Given the description of an element on the screen output the (x, y) to click on. 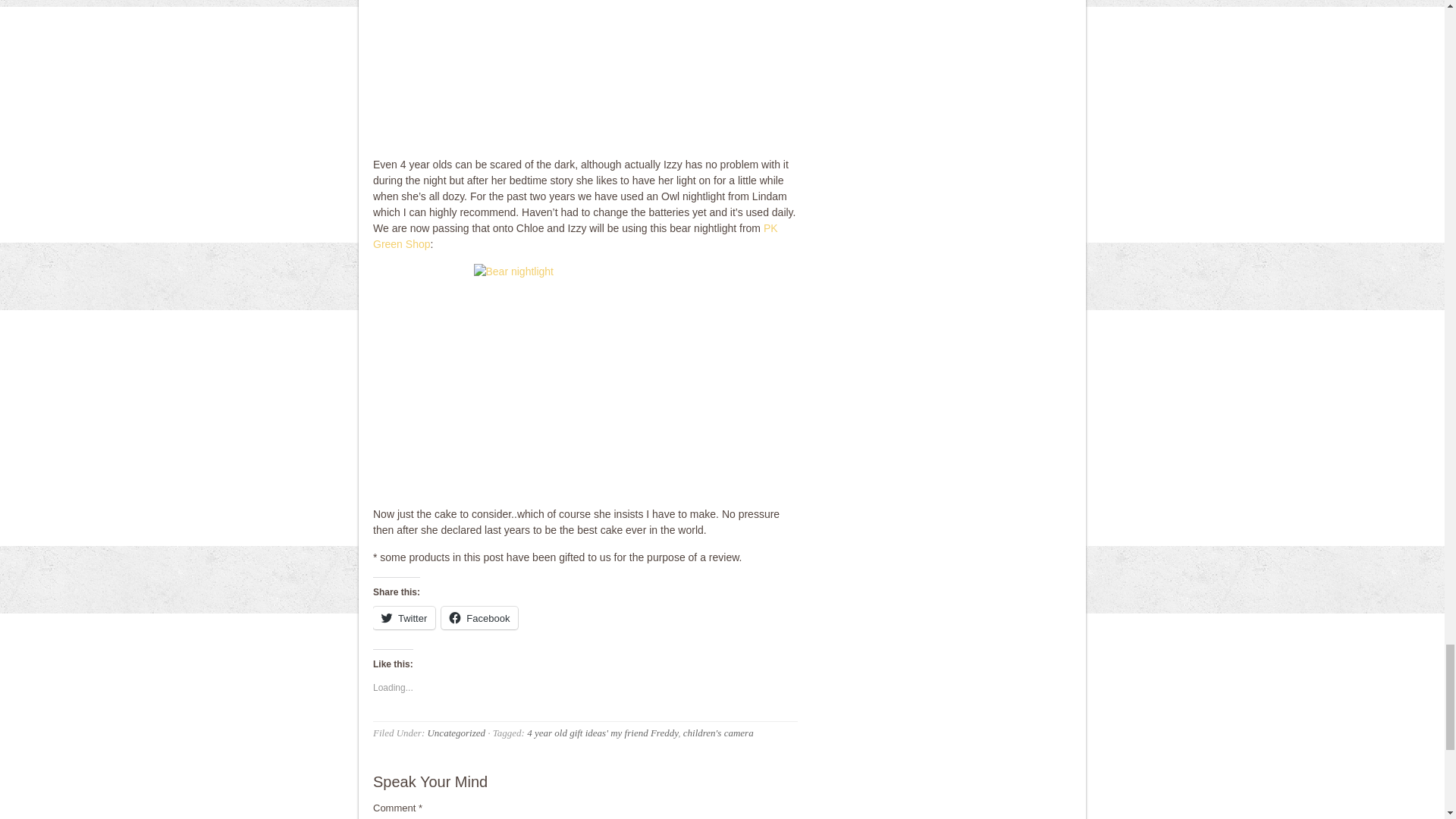
Click to share on Twitter (403, 617)
children's camera (718, 732)
PK Green Shop (574, 235)
4 year old gift ideas' my friend Freddy (602, 732)
Uncategorized (455, 732)
Twitter (403, 617)
Facebook (479, 617)
Click to share on Facebook (479, 617)
